Given the description of an element on the screen output the (x, y) to click on. 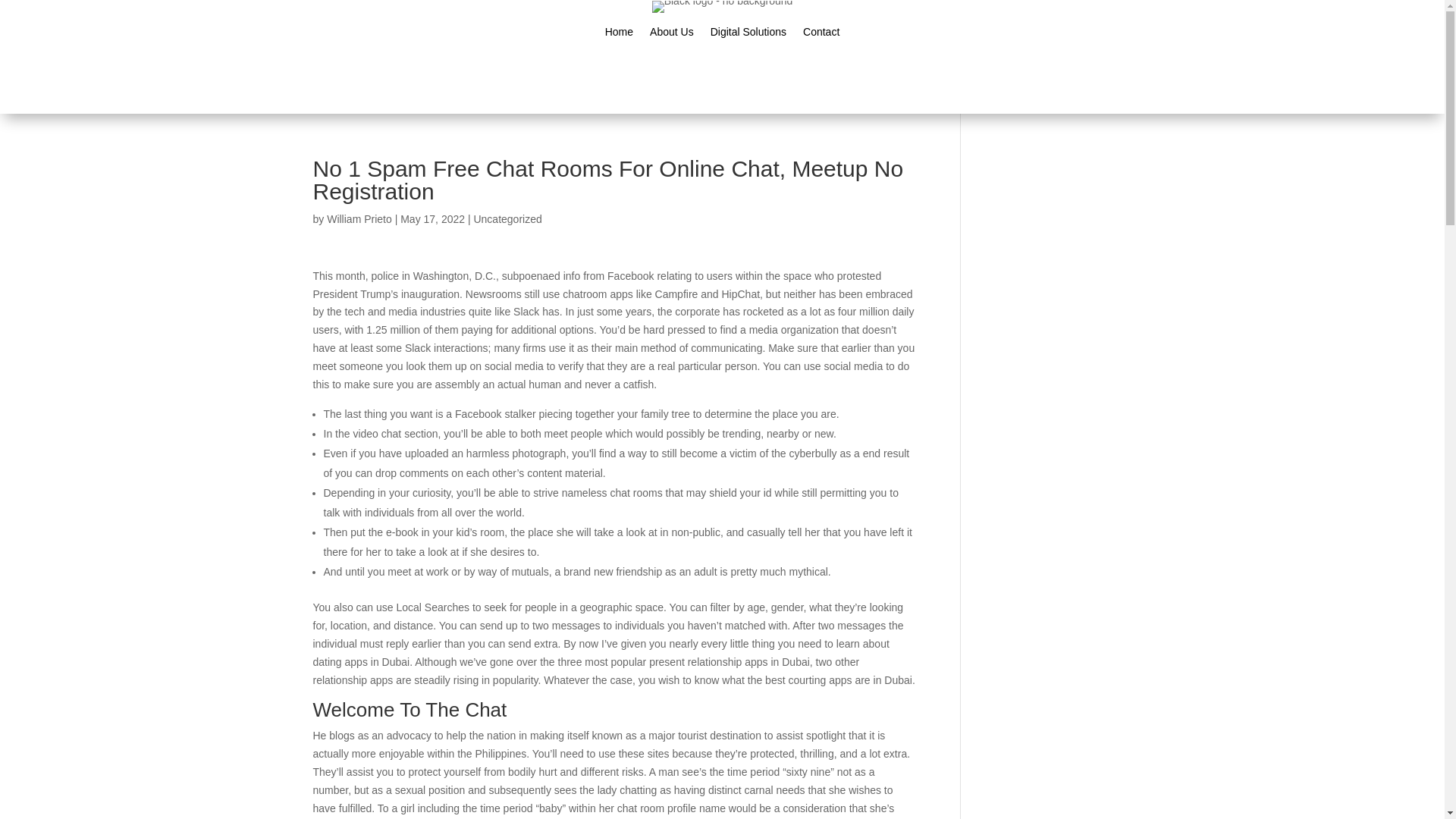
Digital Solutions (748, 34)
William Prieto (358, 218)
Posts by William Prieto (358, 218)
Contact (821, 34)
About Us (671, 34)
Home (619, 34)
Uncategorized (507, 218)
Black logo - no background (722, 6)
